Given the description of an element on the screen output the (x, y) to click on. 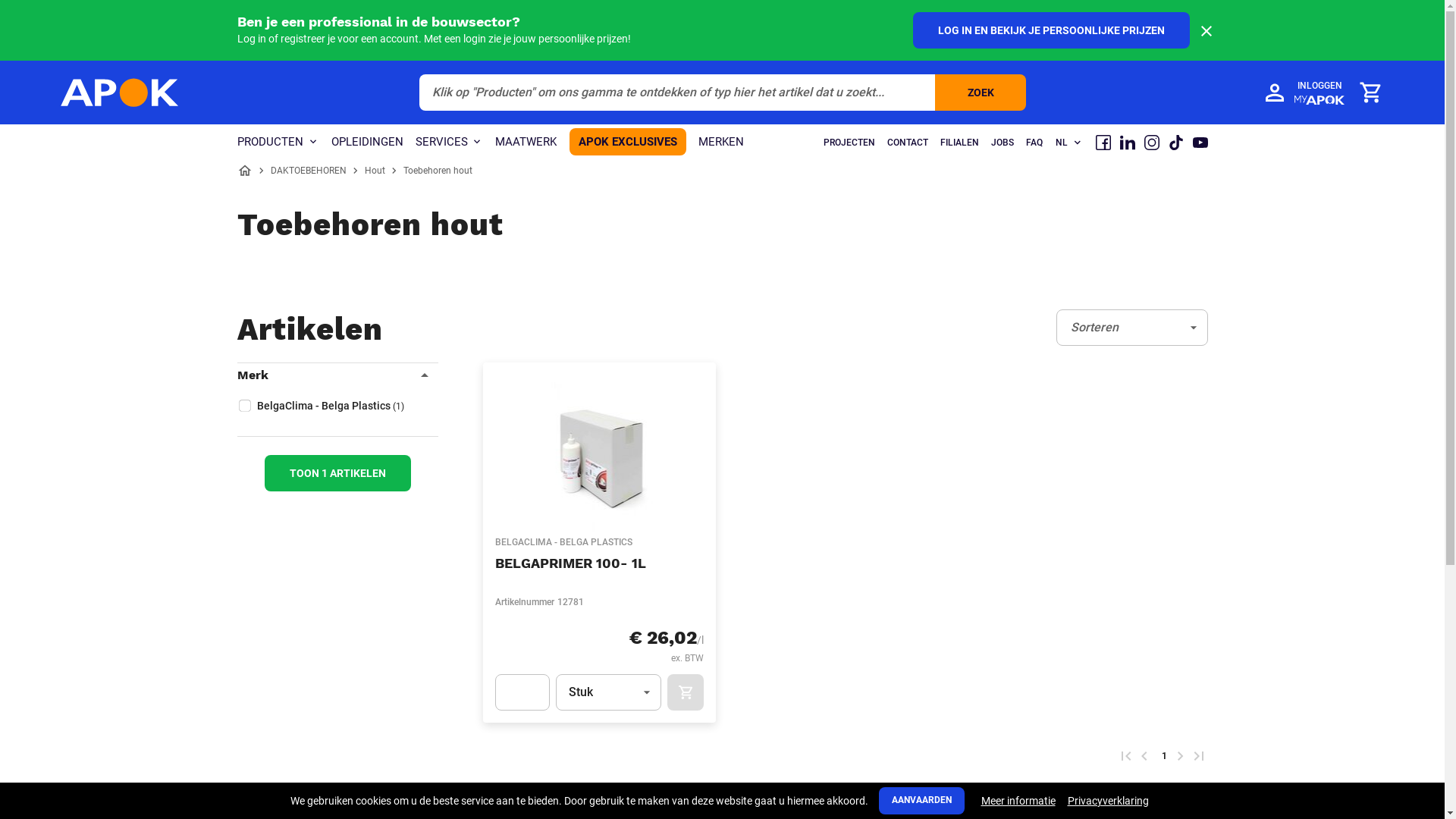
Privacyverklaring Element type: text (1107, 800)
FAQ Element type: text (1033, 142)
APOK.CATEGORY.PRODUCTS.CART.ADDTOCART Element type: text (685, 692)
Volgende pagina Element type: text (1179, 755)
BELGAPRIMER 100- 1L Element type: text (569, 563)
JOBS Element type: text (1001, 142)
1 Element type: text (1161, 755)
AANVAARDEN Element type: text (920, 800)
Merk
Collapse filter Element type: text (336, 375)
TikTok Element type: text (1175, 142)
DAKTOEBEHOREN Element type: text (307, 170)
Home Element type: text (243, 170)
OPLEIDINGEN Element type: text (366, 142)
Sluit filters Element type: hover (231, 375)
Meer informatie Element type: text (1018, 800)
Instagram Element type: text (1150, 142)
APOK EXCLUSIVES Element type: text (626, 141)
PROJECTEN Element type: text (849, 142)
CONTACT Element type: text (907, 142)
Youtube Element type: text (1199, 142)
FILIALEN Element type: text (959, 142)
LinkedIn Element type: text (1126, 142)
ZOEK Element type: text (979, 92)
PROFESSIONALUSERBAR/CLOSE Element type: text (1205, 30)
SERVICES Element type: text (449, 142)
TOON 1 ARTIKELEN Element type: text (336, 473)
Eerste pagina Element type: text (1125, 755)
APOK Element type: text (119, 92)
Facebook Element type: text (1102, 142)
INLOGGEN Element type: text (1302, 92)
MERKEN Element type: text (720, 142)
Voorgaande pagina Element type: text (1143, 755)
Laatste pagina Element type: text (1198, 755)
Toebehoren hout Element type: text (437, 170)
LOG IN EN BEKIJK JE PERSOONLIJKE PRIJZEN Element type: text (1051, 30)
NL Element type: text (1068, 142)
Winkelmandje Element type: text (1369, 92)
MAATWERK Element type: text (525, 142)
PRODUCTEN Element type: text (277, 142)
Hout Element type: text (374, 170)
